Given the description of an element on the screen output the (x, y) to click on. 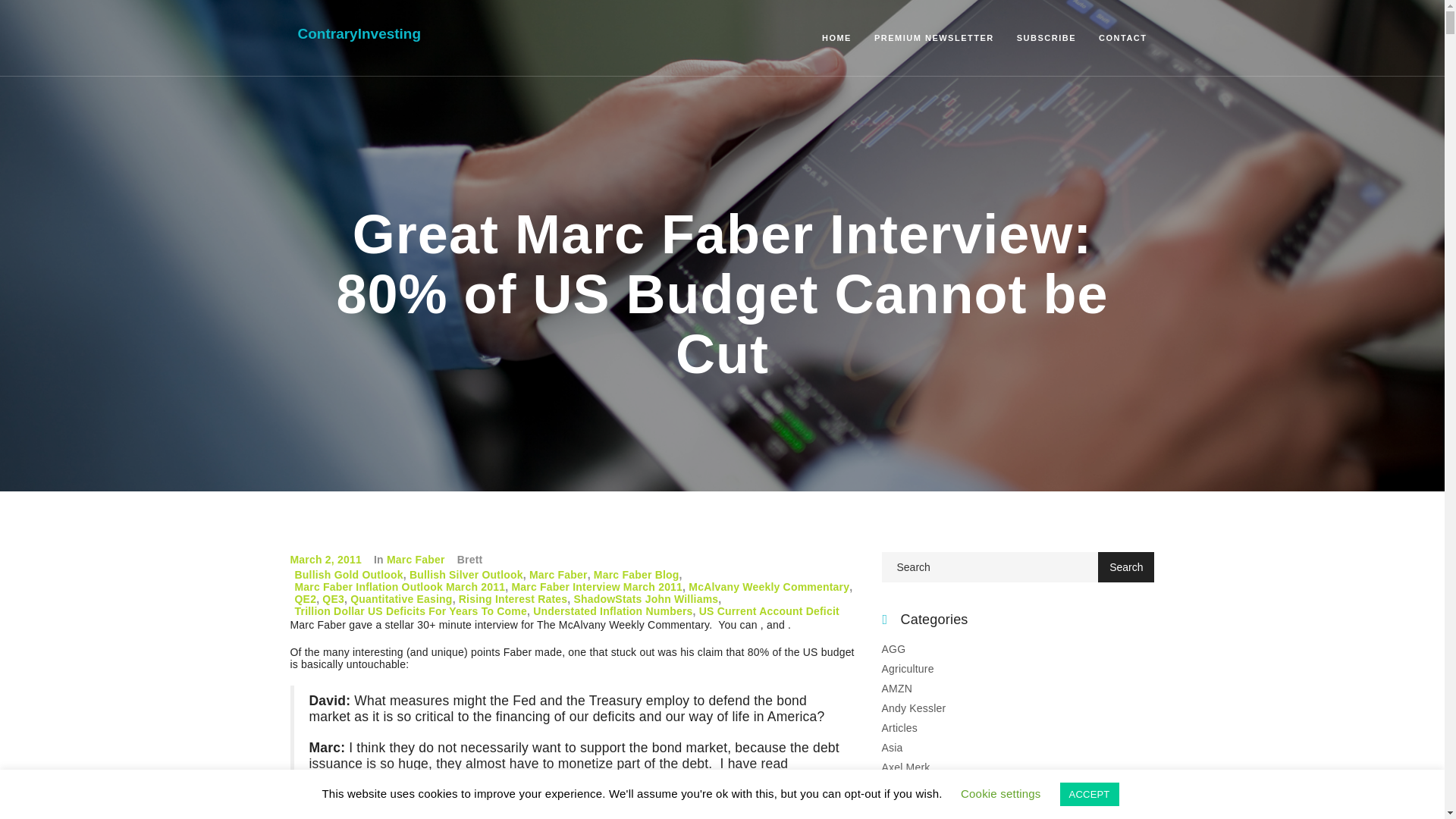
Contact (1122, 37)
Search (1125, 567)
QE3 (332, 598)
Bullish Gold Outlook (348, 574)
Rising Interest Rates (512, 598)
AGG (892, 648)
Marc Faber Interview March 2011 (596, 586)
QE2 (304, 598)
Quantitative Easing (401, 598)
Marc Faber (558, 574)
Marc Faber Blog (636, 574)
McAlvany Weekly Commentary (768, 586)
CONTACT (1122, 37)
Bullish Silver Outlook (465, 574)
US Current Account Deficit (769, 611)
